Given the description of an element on the screen output the (x, y) to click on. 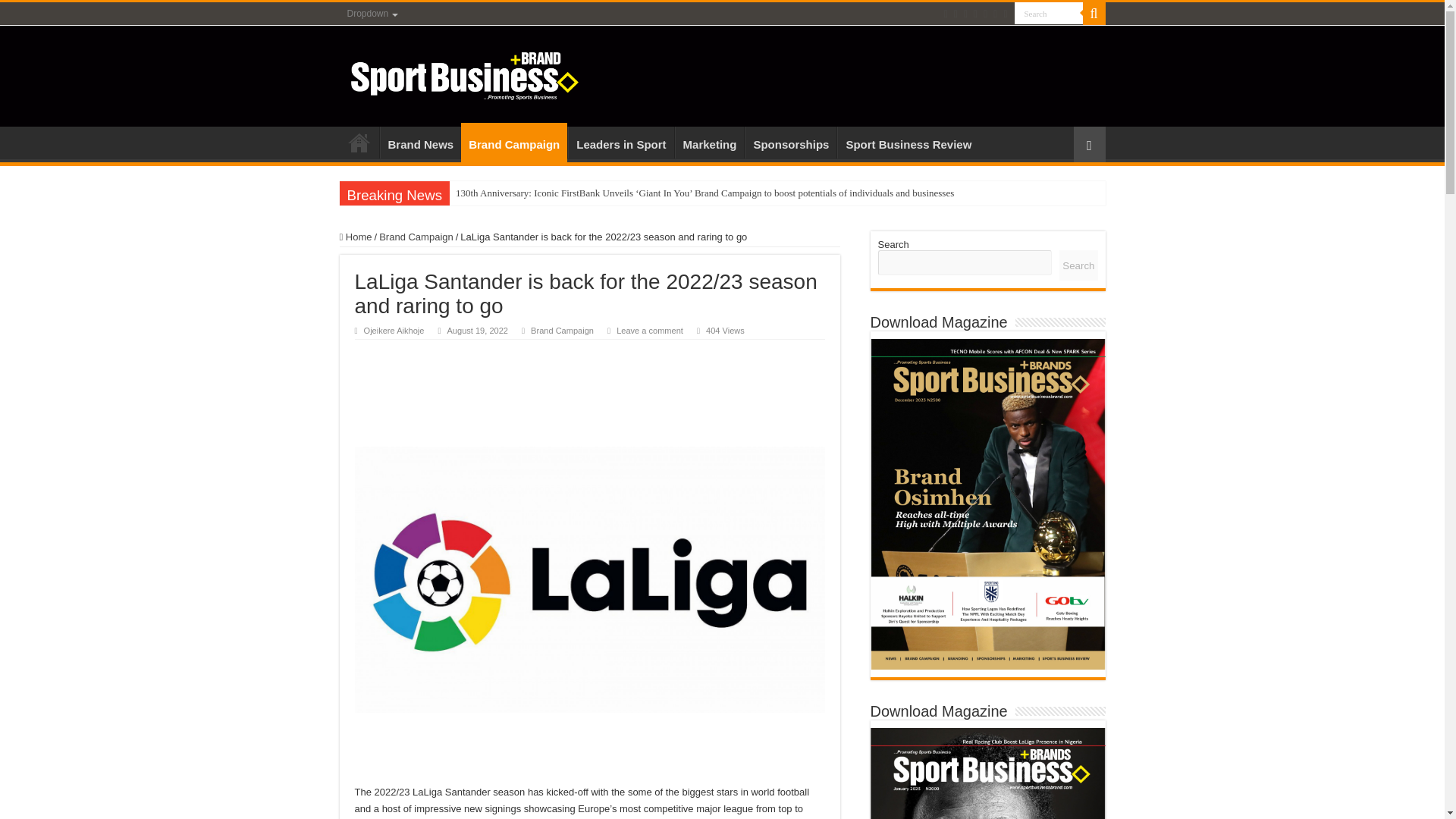
Home (358, 142)
Brand News (419, 142)
Search (1048, 13)
Brand Campaign (514, 142)
Search (1094, 13)
Search (1048, 13)
Leaders in Sport (619, 142)
Marketing (709, 142)
Sponsorships (789, 142)
Sport Business Review (907, 142)
Search (1048, 13)
Dropdown (371, 13)
